Given the description of an element on the screen output the (x, y) to click on. 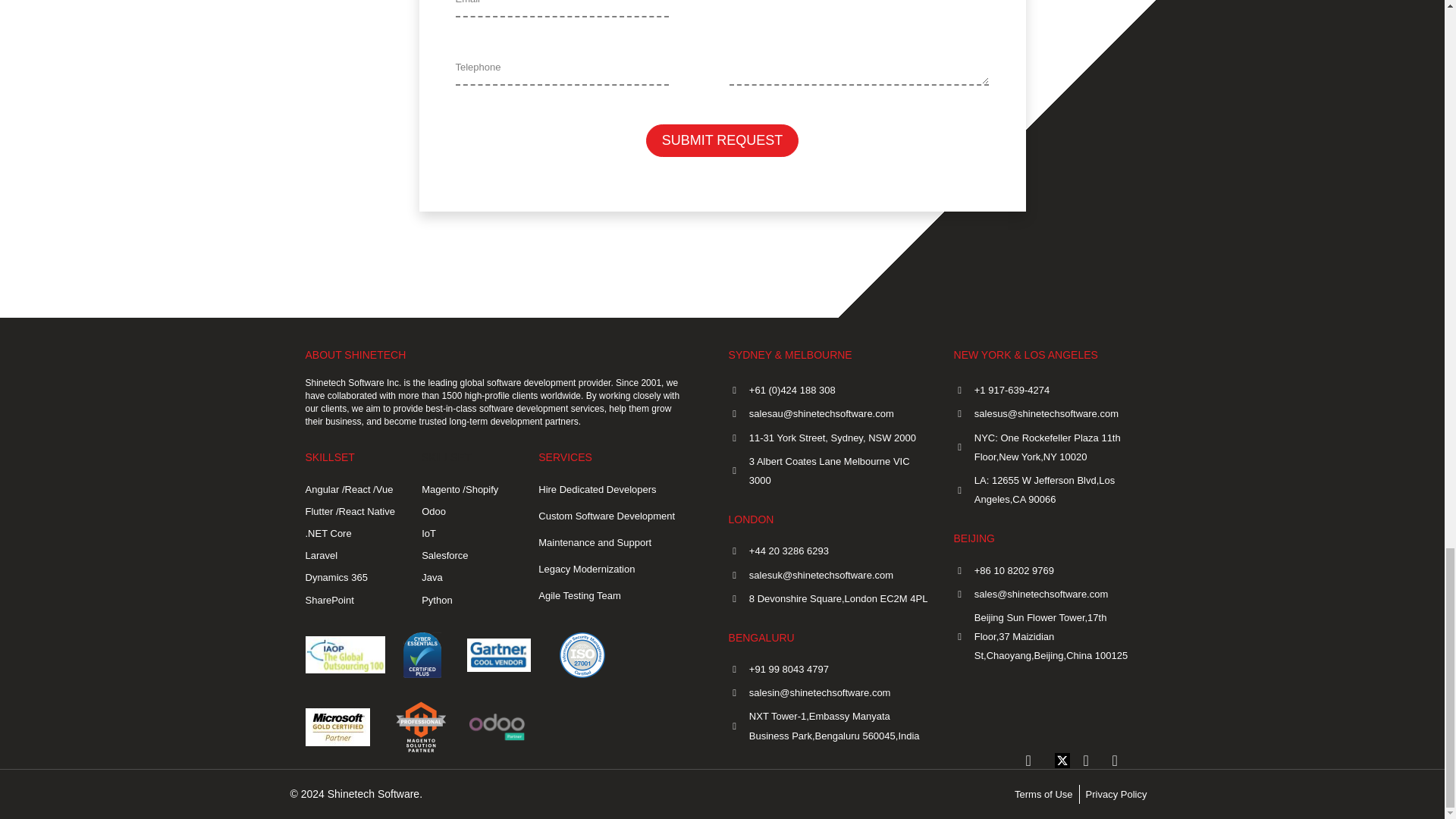
ISO27001 (582, 655)
.NET Core (351, 533)
Java (468, 577)
Odoo (468, 511)
microsoft (336, 727)
IoT (468, 533)
gartner tool vendor (499, 654)
Global outsourcing 100 (344, 654)
odoo partner (497, 726)
SUBMIT REQUEST (722, 140)
